Given the description of an element on the screen output the (x, y) to click on. 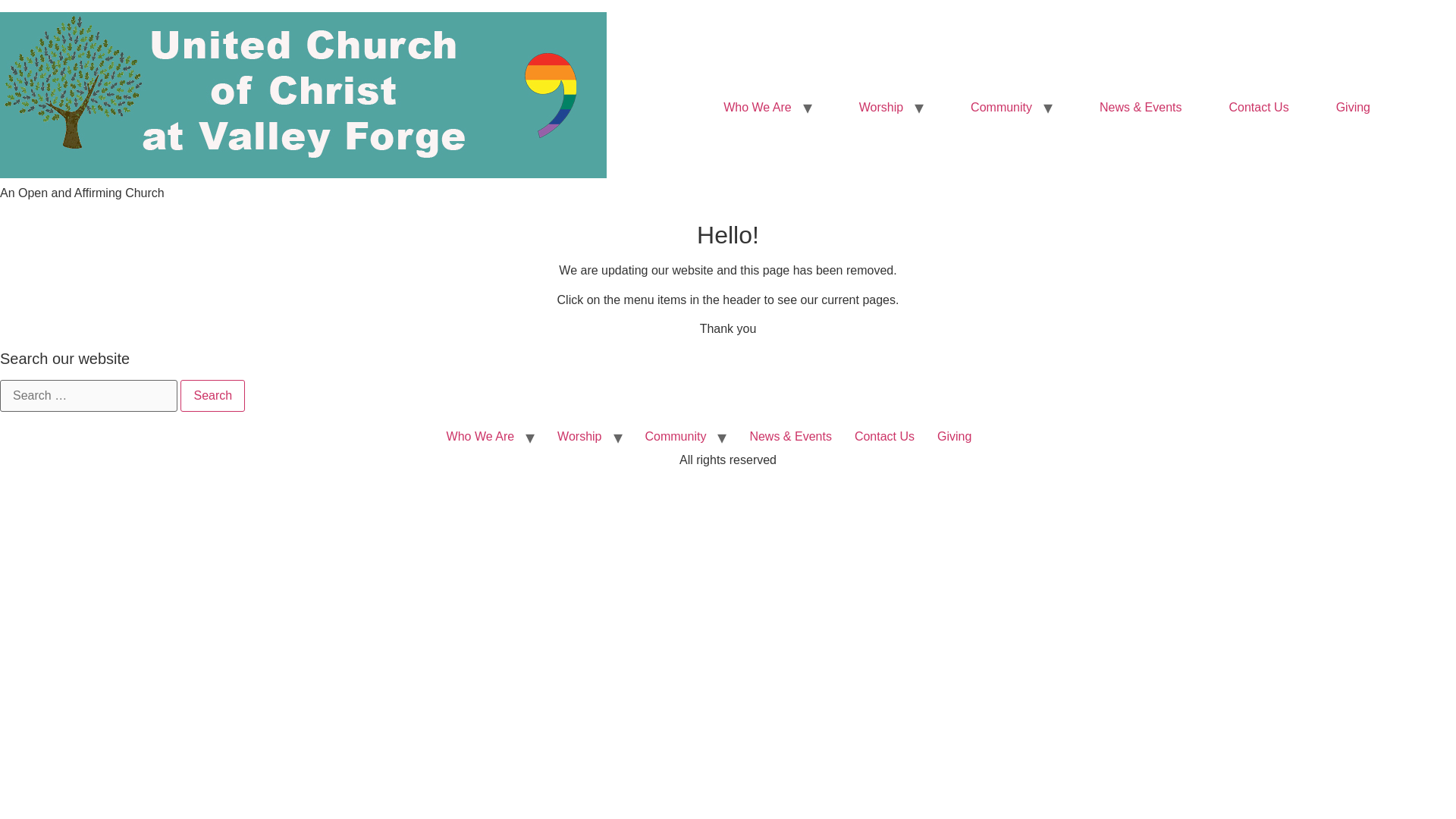
Contact Us (1258, 107)
Community (1001, 107)
Search (212, 395)
Who We Are (757, 107)
Worship (880, 107)
Giving (1352, 107)
Search (212, 395)
